Given the description of an element on the screen output the (x, y) to click on. 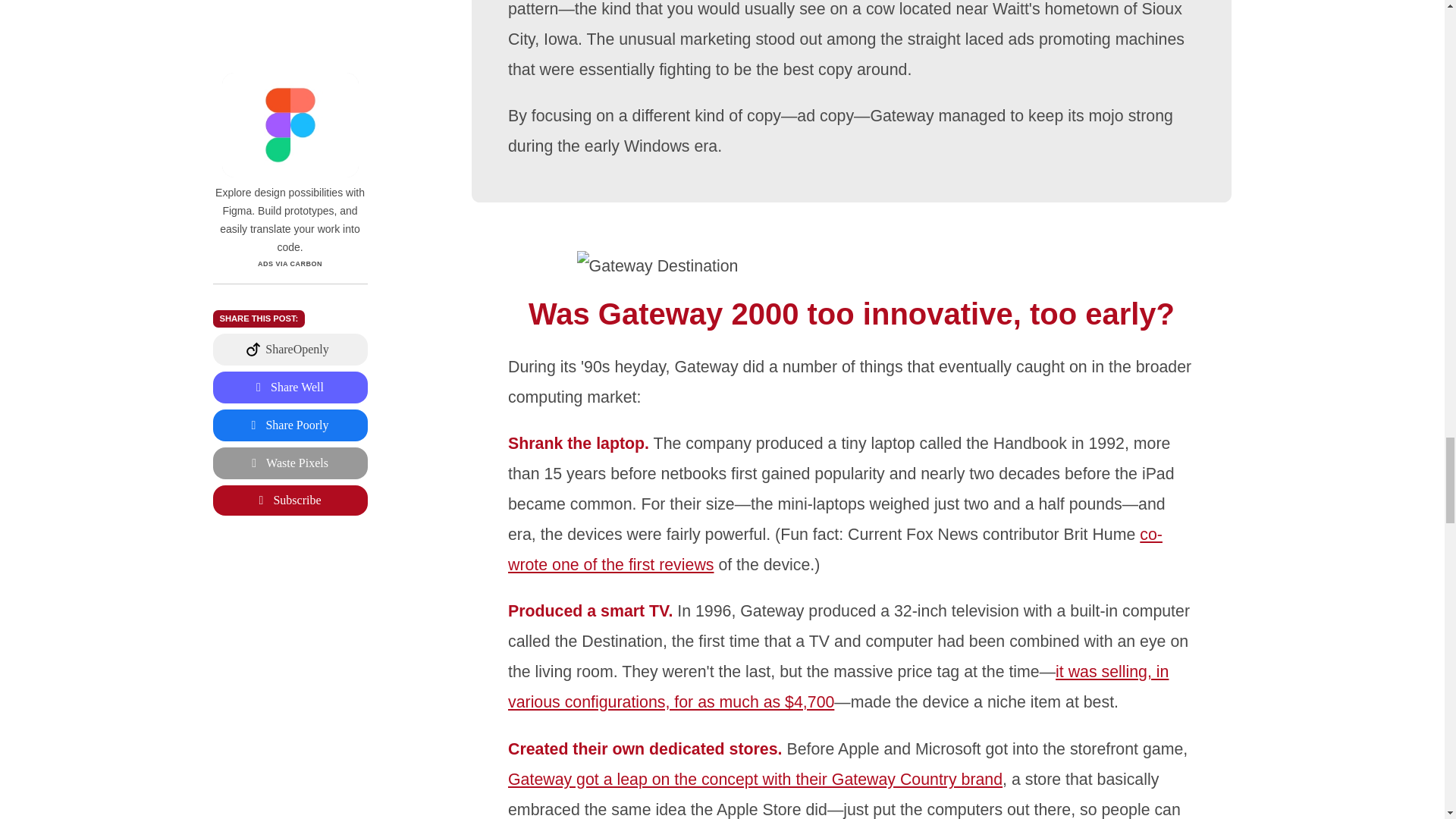
co-wrote one of the first reviews (834, 549)
